Given the description of an element on the screen output the (x, y) to click on. 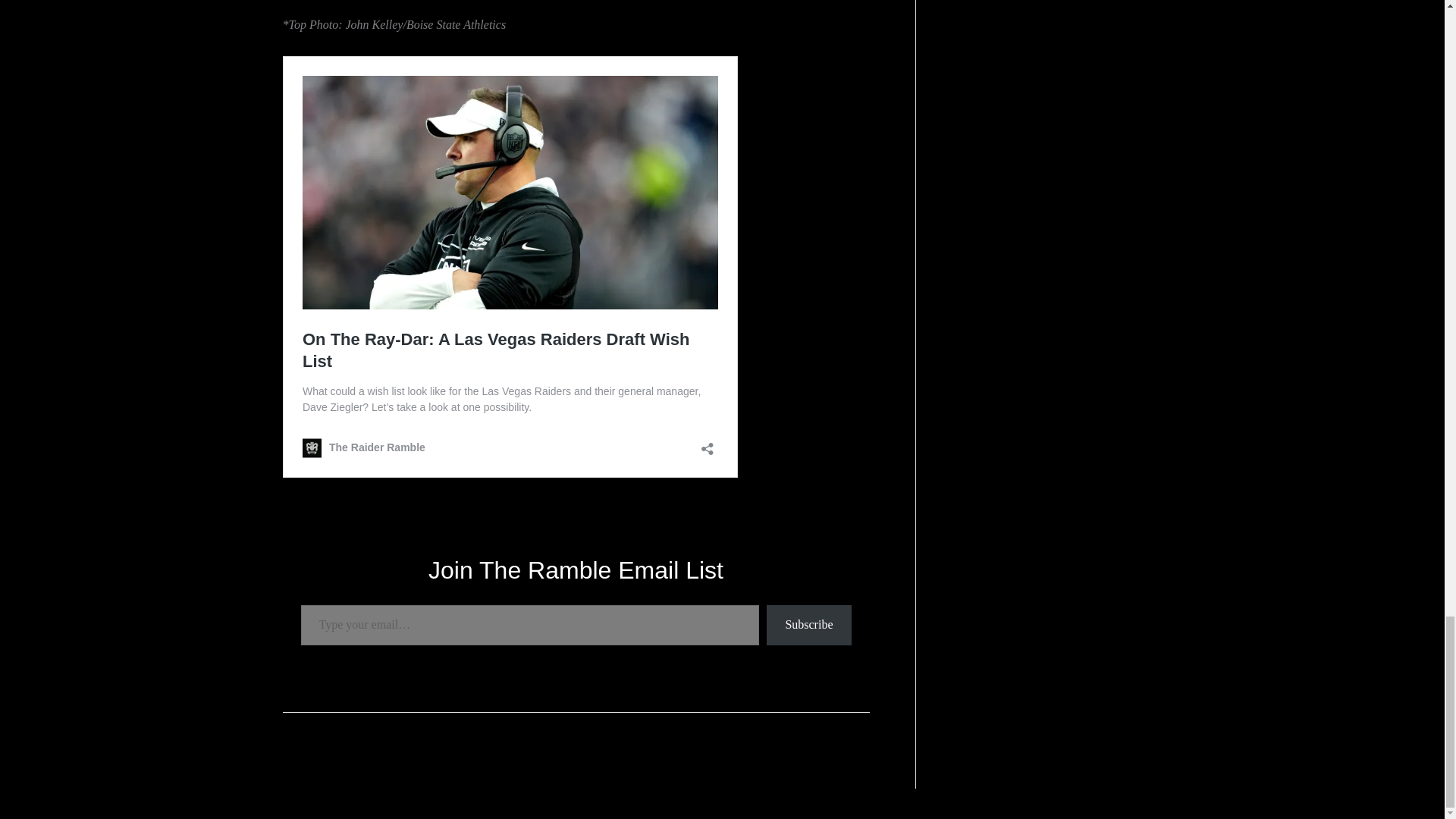
Subscribe (808, 625)
Please fill in this field. (528, 625)
